Given the description of an element on the screen output the (x, y) to click on. 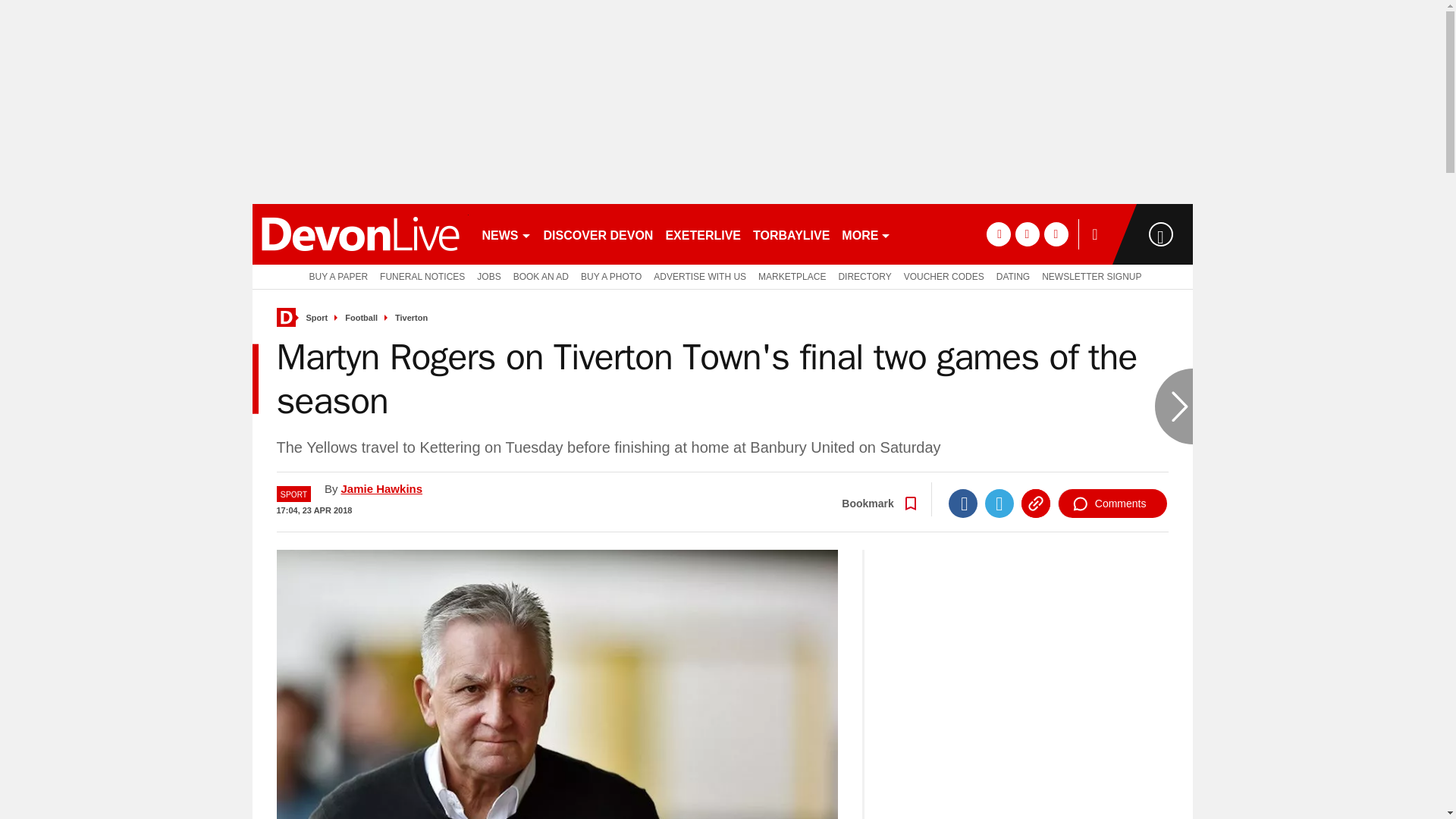
instagram (1055, 233)
Comments (1112, 502)
Facebook (962, 502)
NEWS (506, 233)
twitter (1026, 233)
Twitter (999, 502)
EXETERLIVE (702, 233)
facebook (997, 233)
MORE (865, 233)
DISCOVER DEVON (598, 233)
TORBAYLIVE (790, 233)
devonlive (359, 233)
